Given the description of an element on the screen output the (x, y) to click on. 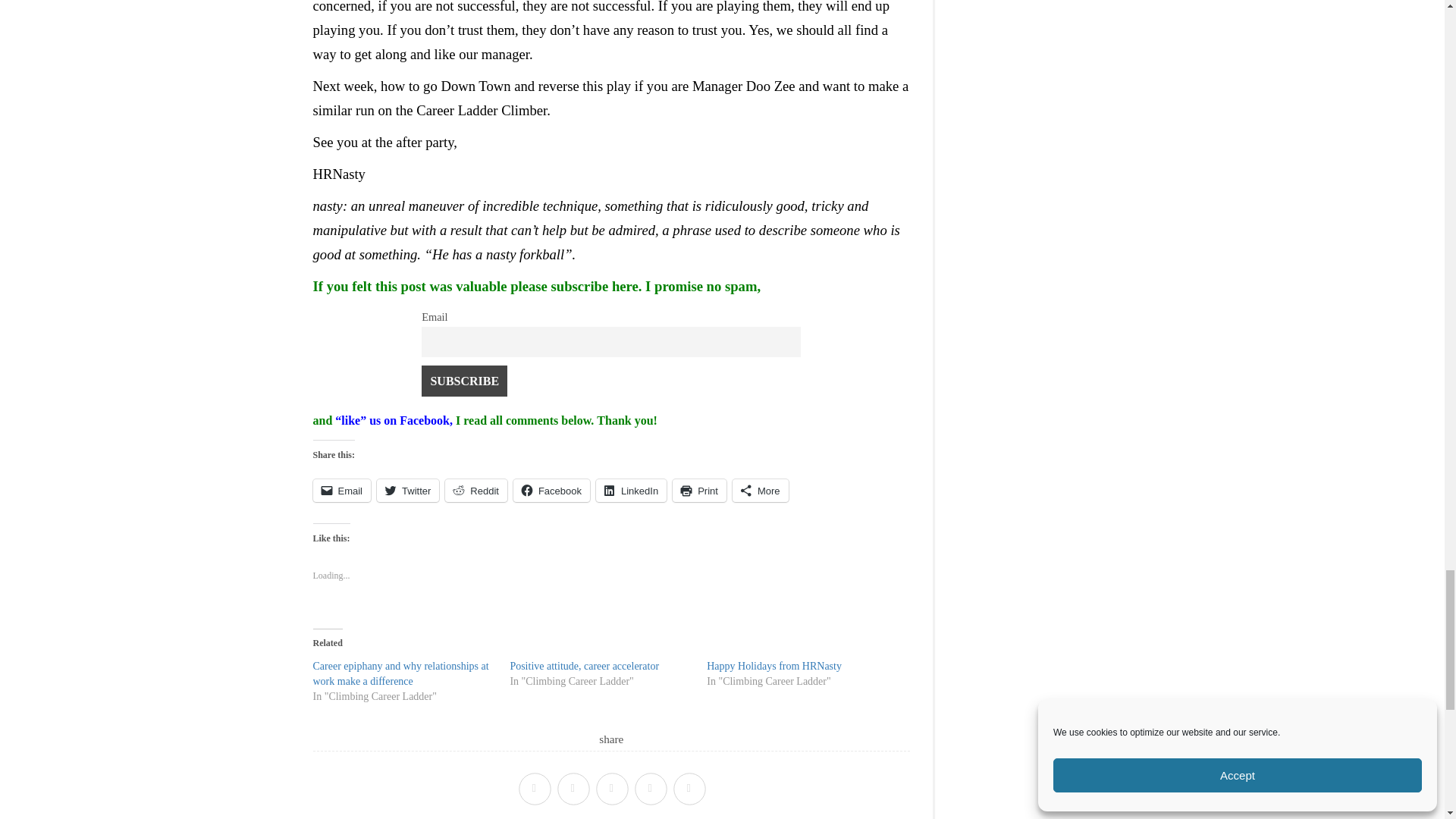
Click to share on Reddit (475, 490)
Click to print (699, 490)
Click to share on Twitter (408, 490)
Click to share on Facebook (551, 490)
Click to email a link to a friend (342, 490)
Subscribe (464, 380)
Click to share on LinkedIn (630, 490)
